Given the description of an element on the screen output the (x, y) to click on. 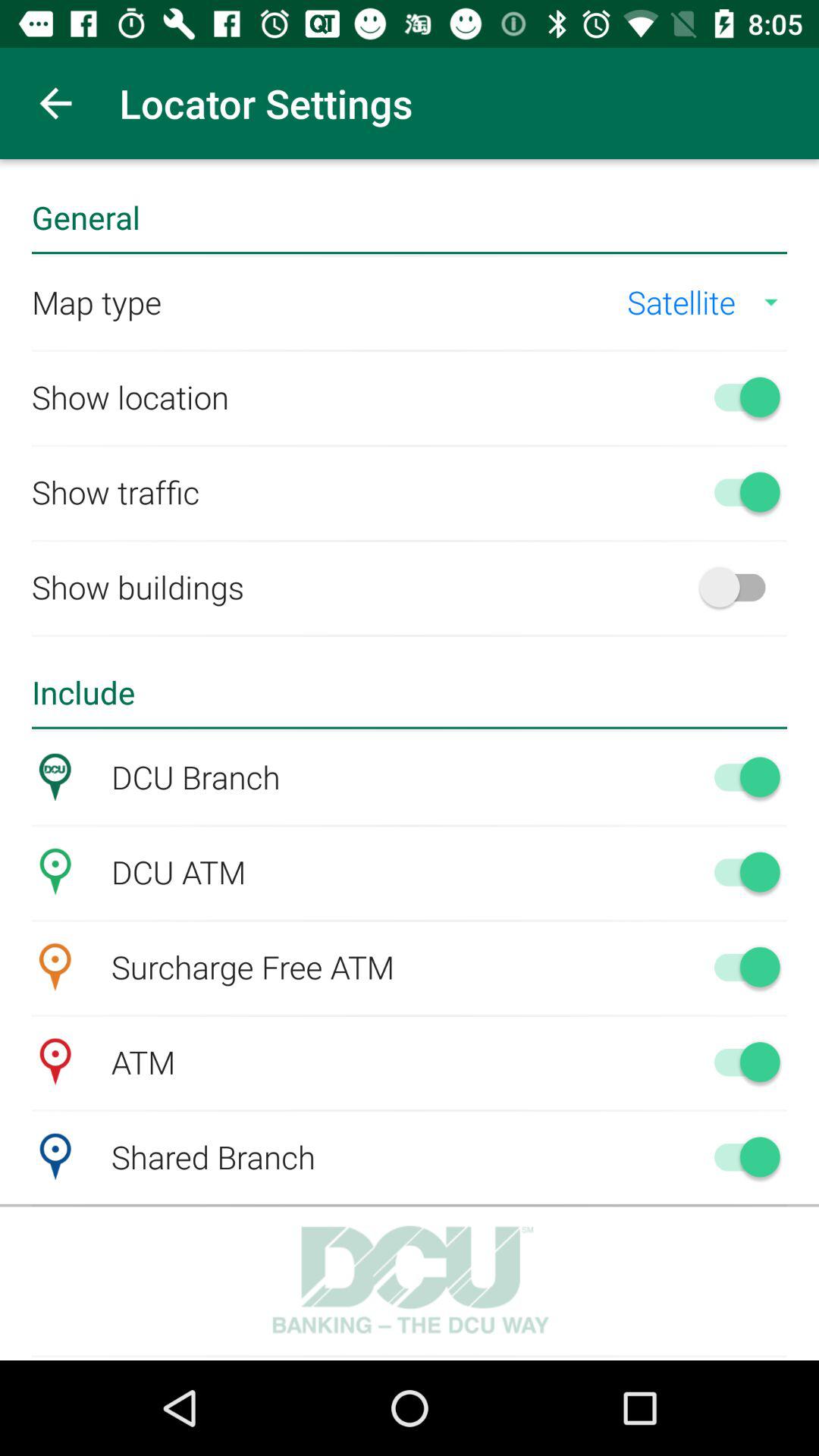
switch off button (739, 1156)
